Given the description of an element on the screen output the (x, y) to click on. 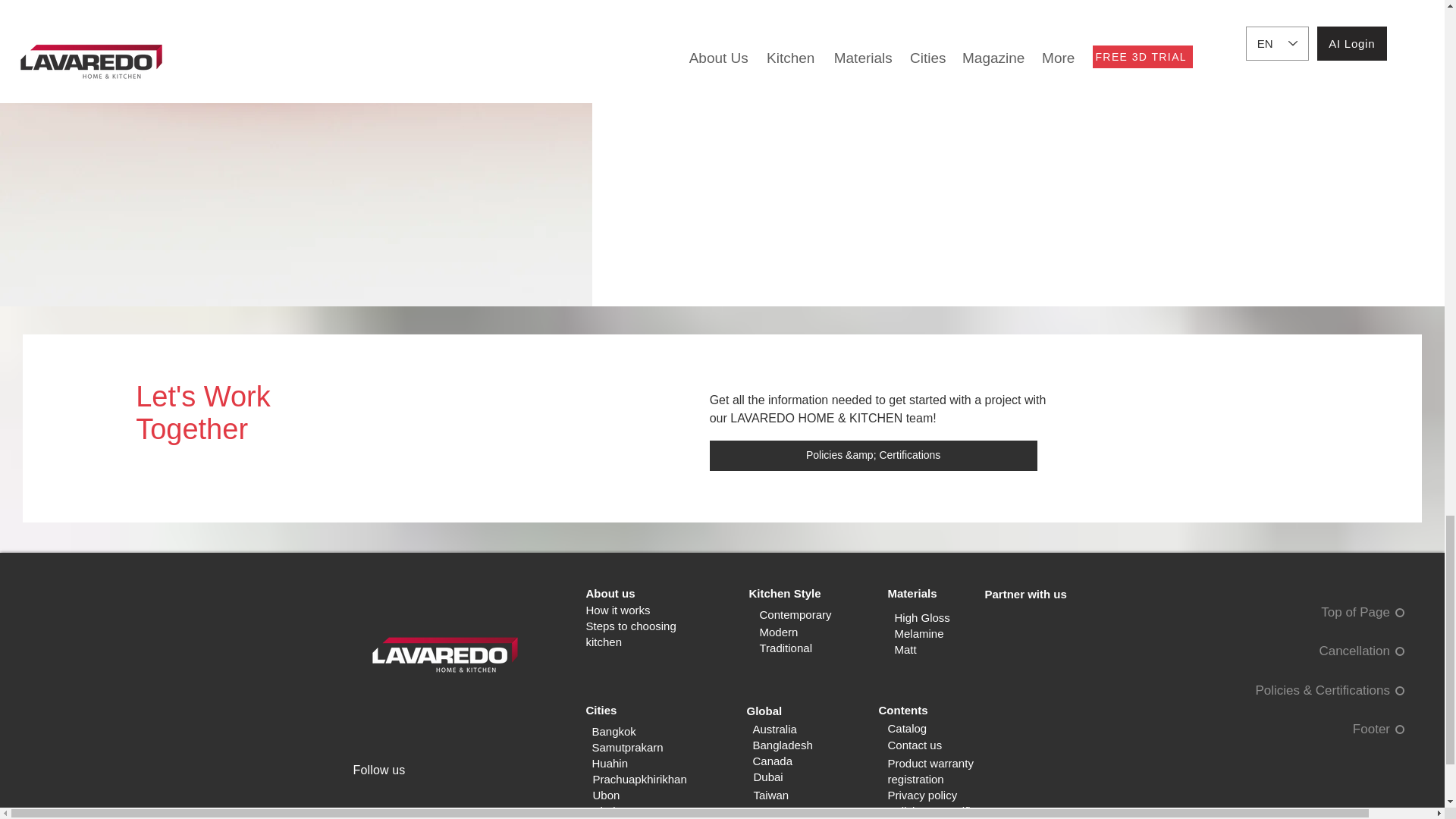
Bangkok (612, 730)
Cities (600, 709)
How it works (617, 609)
About us (609, 593)
Huahin (609, 762)
Steps to choosing kitchen (630, 633)
Samutprakarn (626, 747)
